Given the description of an element on the screen output the (x, y) to click on. 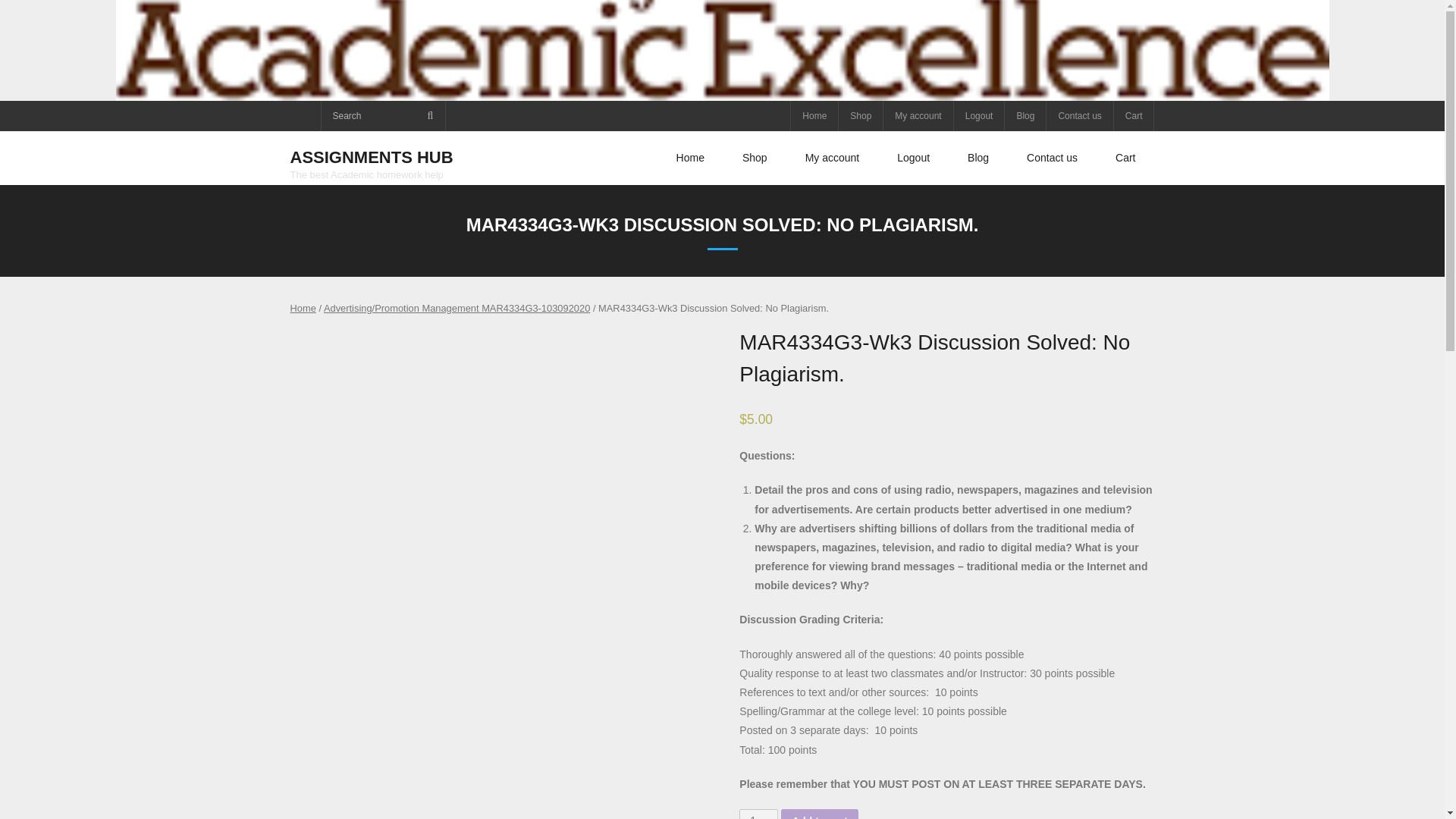
Search (33, 15)
Shop (754, 158)
Add to cart (819, 814)
Cart (1125, 158)
Shop (860, 115)
Blog (978, 158)
Home (814, 115)
My account (832, 158)
Home (302, 307)
Contact us (1078, 115)
